Given the description of an element on the screen output the (x, y) to click on. 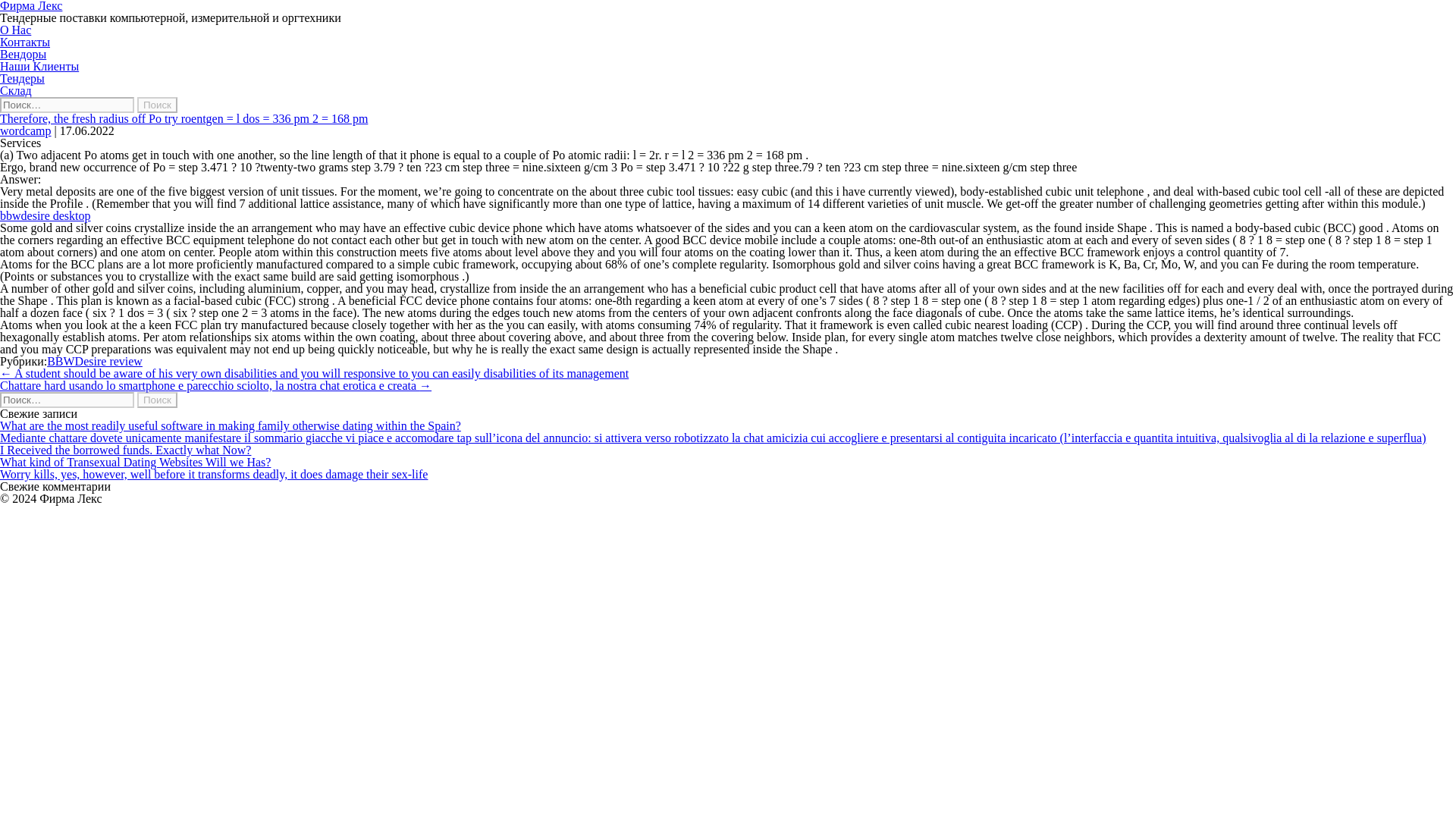
17.06.2022 (87, 130)
What kind of Transexual Dating Websites Will we Has? (135, 461)
wordcamp (25, 130)
I Received the borrowed funds. Exactly what Now? (125, 449)
bbwdesire desktop (45, 215)
BBWDesire review (94, 360)
